Given the description of an element on the screen output the (x, y) to click on. 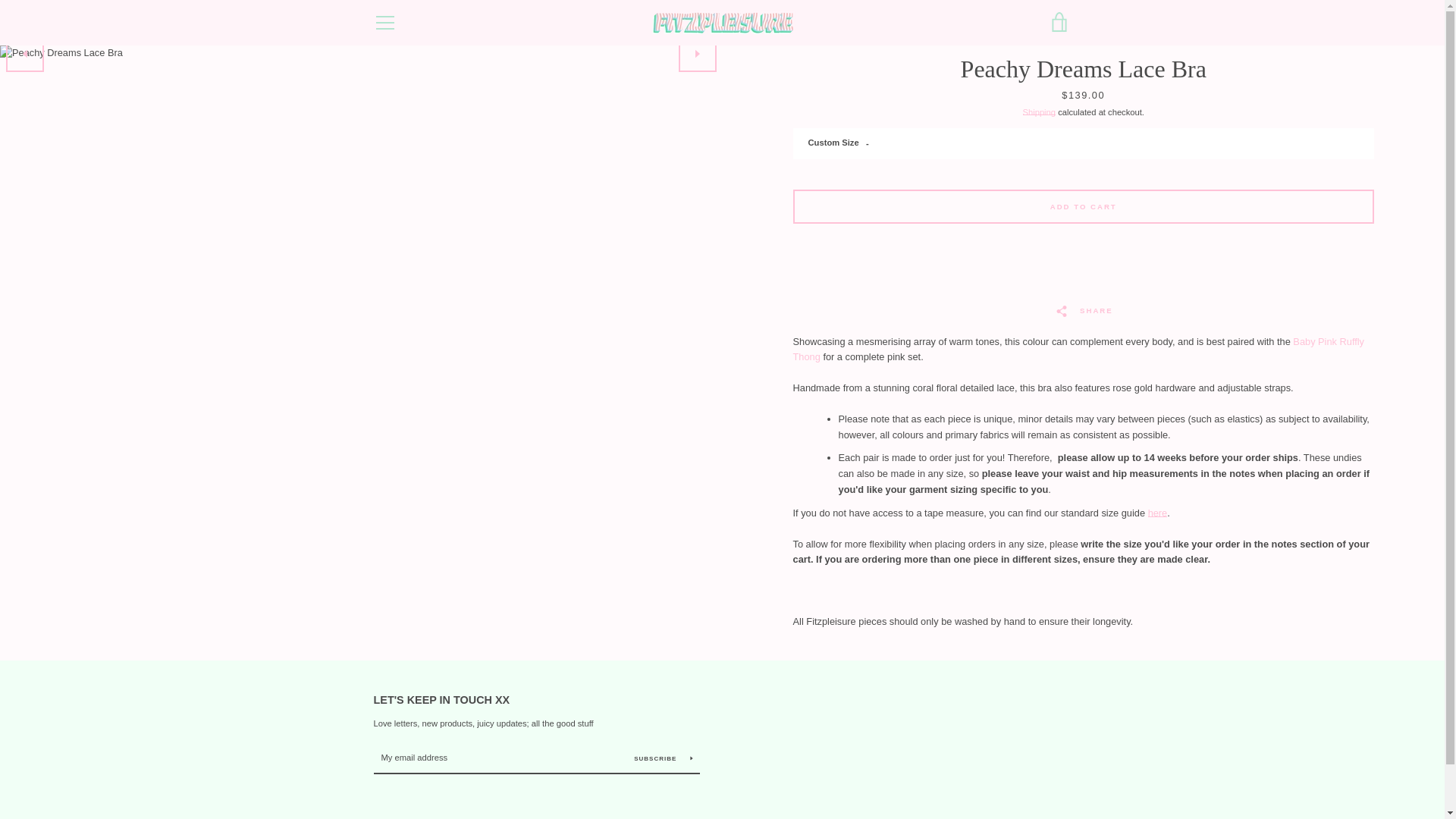
VIEW CART (1059, 22)
ADD TO CART (1083, 206)
Shipping (1038, 112)
here (1157, 512)
Baby Pink Ruffly Thong (1078, 349)
SHARE (1083, 310)
MENU (384, 22)
SUBSCRIBE (663, 757)
